Given the description of an element on the screen output the (x, y) to click on. 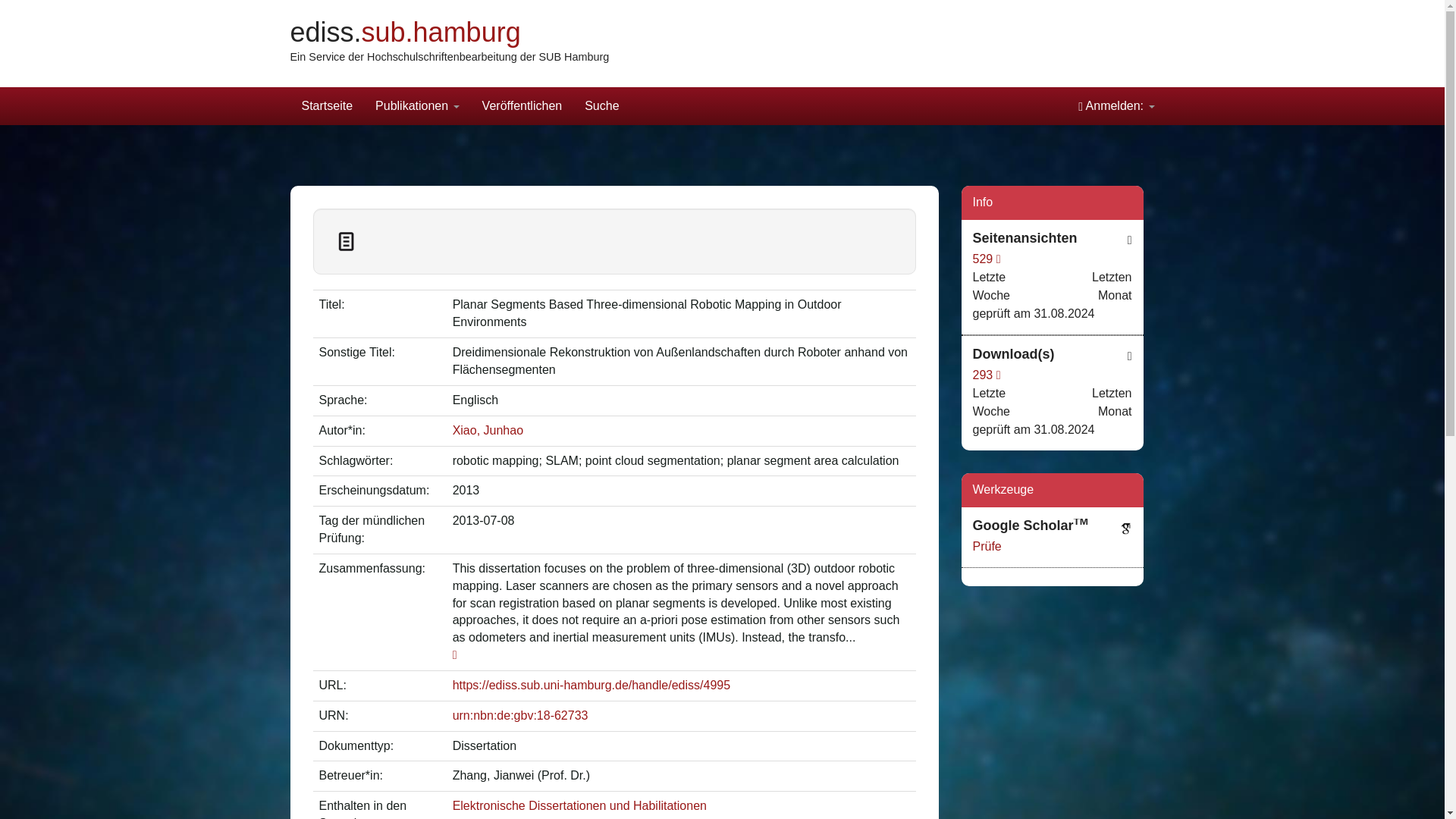
Anmelden: (1116, 105)
Elektronische Dissertationen und Habilitationen (579, 805)
urn:nbn:de:gbv:18-62733 (520, 715)
Publikationen (417, 105)
Suche (601, 105)
ediss.sub.hamburg (404, 31)
Startseite (326, 105)
293 (986, 374)
529 (986, 258)
Xiao, Junhao (487, 430)
